Given the description of an element on the screen output the (x, y) to click on. 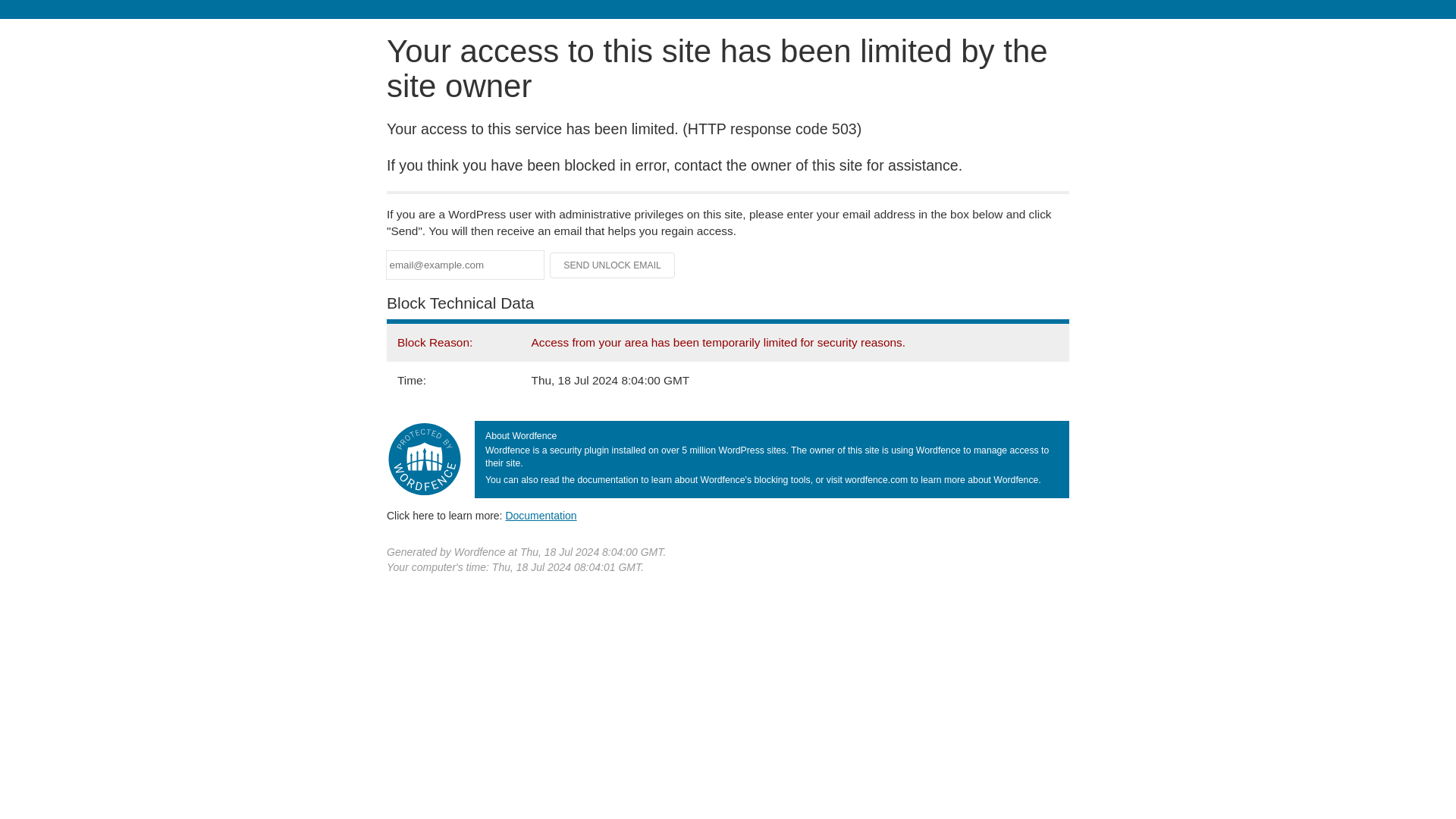
Send Unlock Email (612, 265)
Documentation (540, 515)
Send Unlock Email (612, 265)
